Given the description of an element on the screen output the (x, y) to click on. 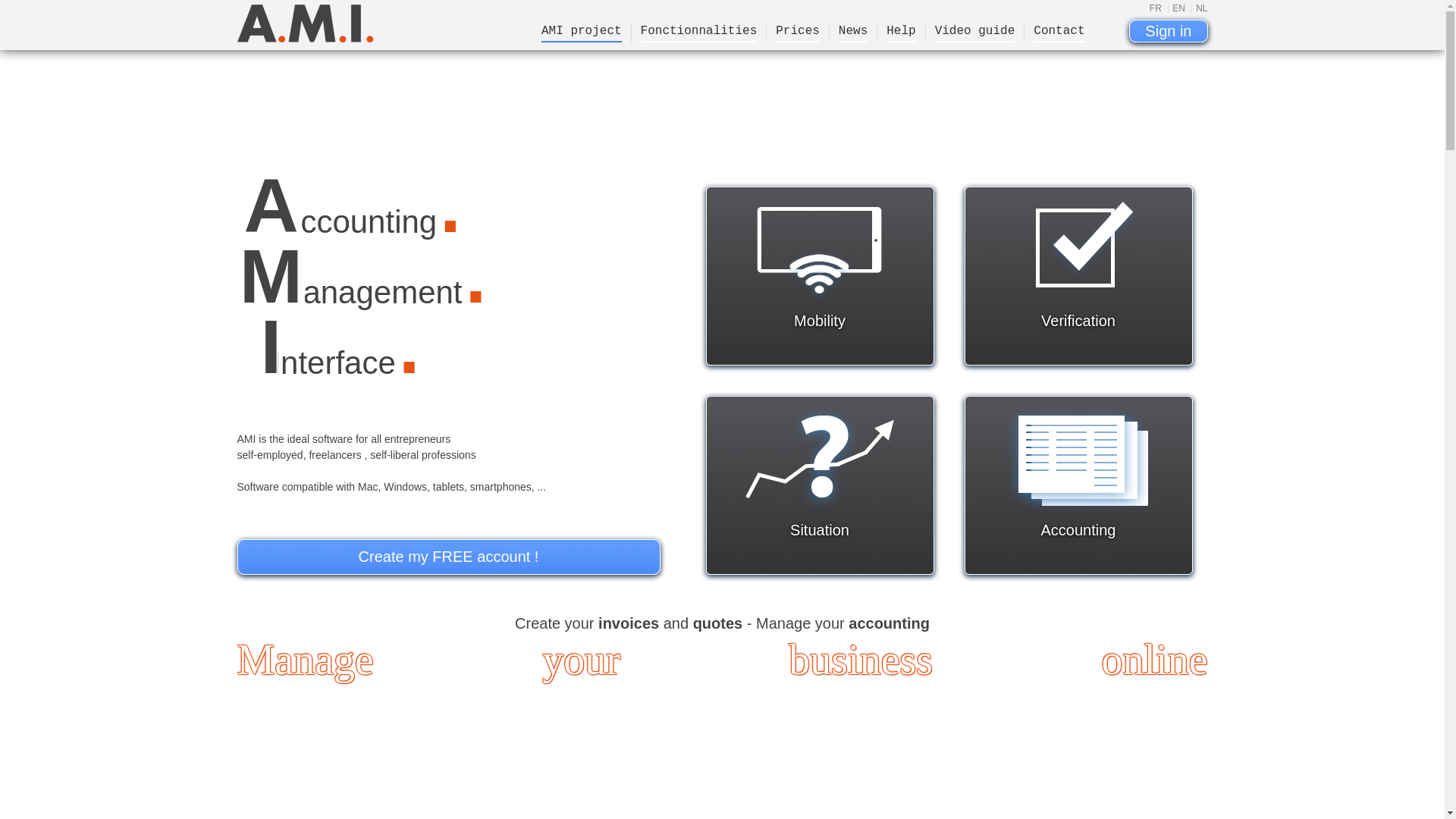
Contact Element type: text (1058, 33)
Help Element type: text (900, 33)
AMI project Element type: text (581, 33)
Fonctionnalities Element type: text (698, 33)
Prices Element type: text (797, 33)
AMI logo - Accounting Management Interface Element type: hover (304, 23)
Create my FREE account ! Element type: text (447, 556)
News Element type: text (852, 33)
Bring your documents everywhere with you Element type: hover (819, 247)
NL Element type: text (1199, 7)
Sign in Element type: text (1168, 30)
FR Element type: text (1155, 7)
EN Element type: text (1176, 7)
Video guide Element type: text (975, 33)
Overview of your company's situation Element type: hover (819, 457)
